Given the description of an element on the screen output the (x, y) to click on. 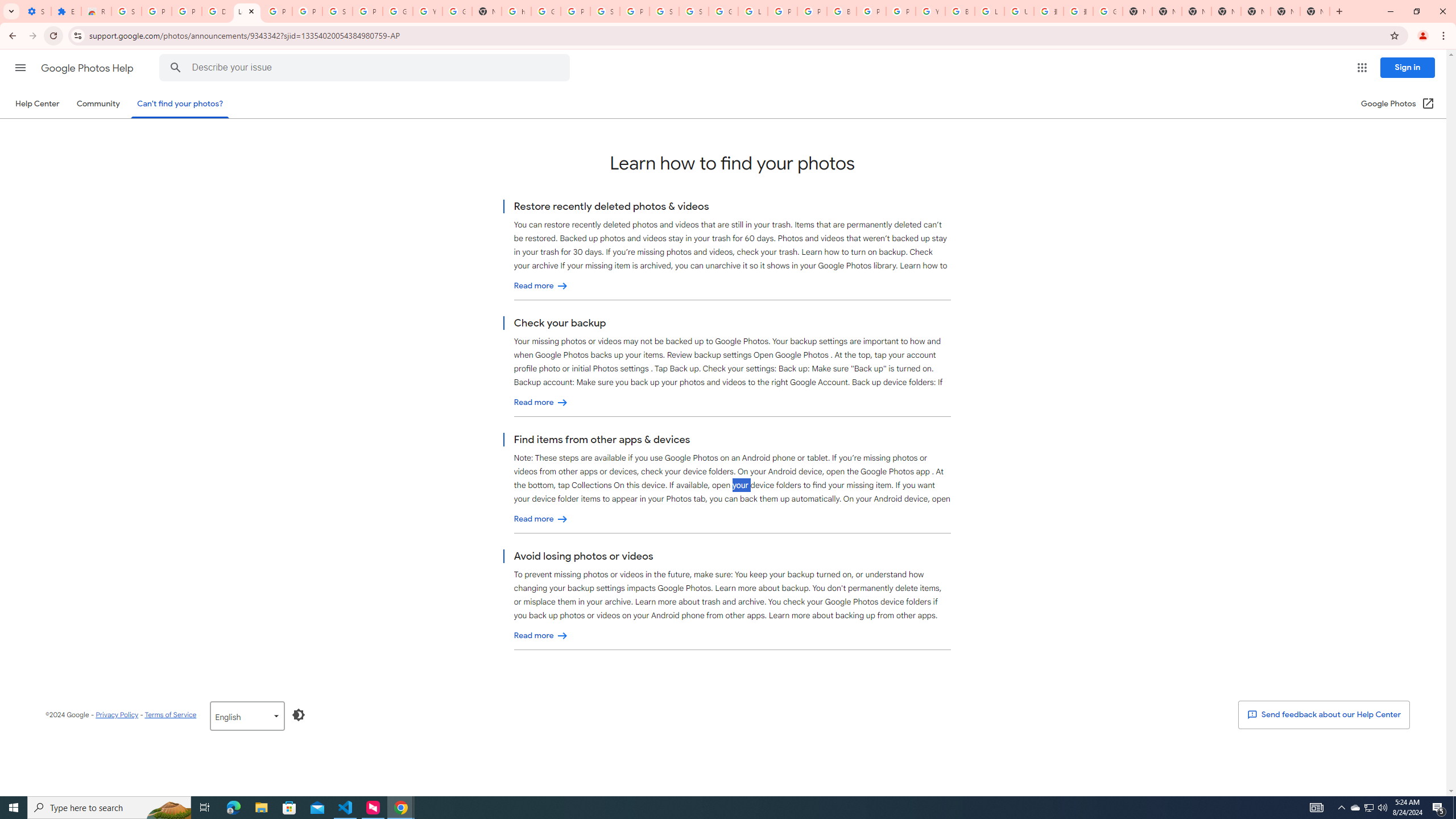
Find items from other apps & devices (541, 518)
Can't find your photos? (180, 103)
Help Center (36, 103)
Google Account (397, 11)
Sign in - Google Accounts (664, 11)
Sign in - Google Accounts (337, 11)
Extensions (65, 11)
Google Photos Help (87, 68)
